Given the description of an element on the screen output the (x, y) to click on. 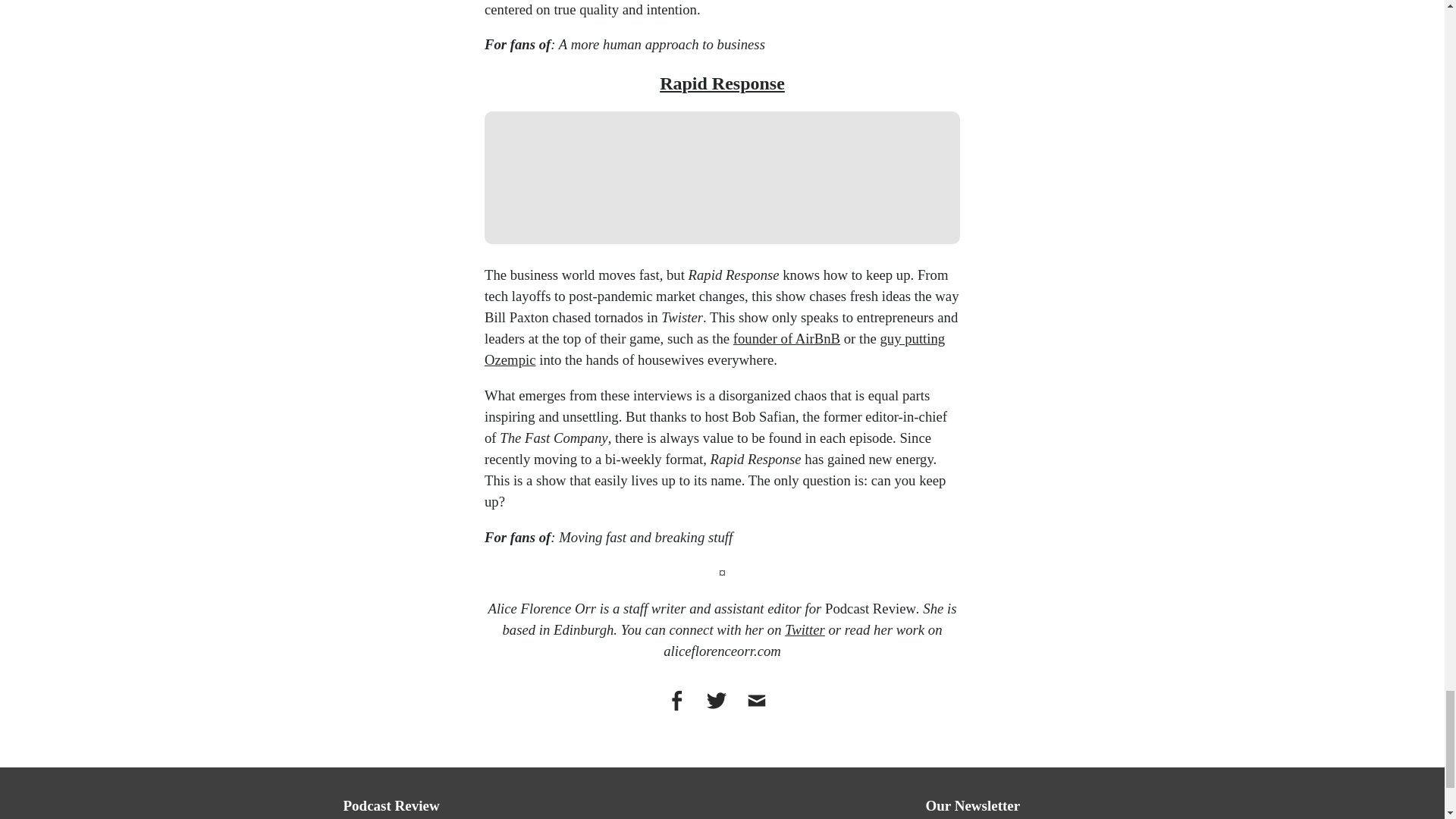
Rapid Response (721, 83)
founder of AirBnB (786, 338)
Twitter (804, 629)
guy putting Ozempic (714, 348)
